Given the description of an element on the screen output the (x, y) to click on. 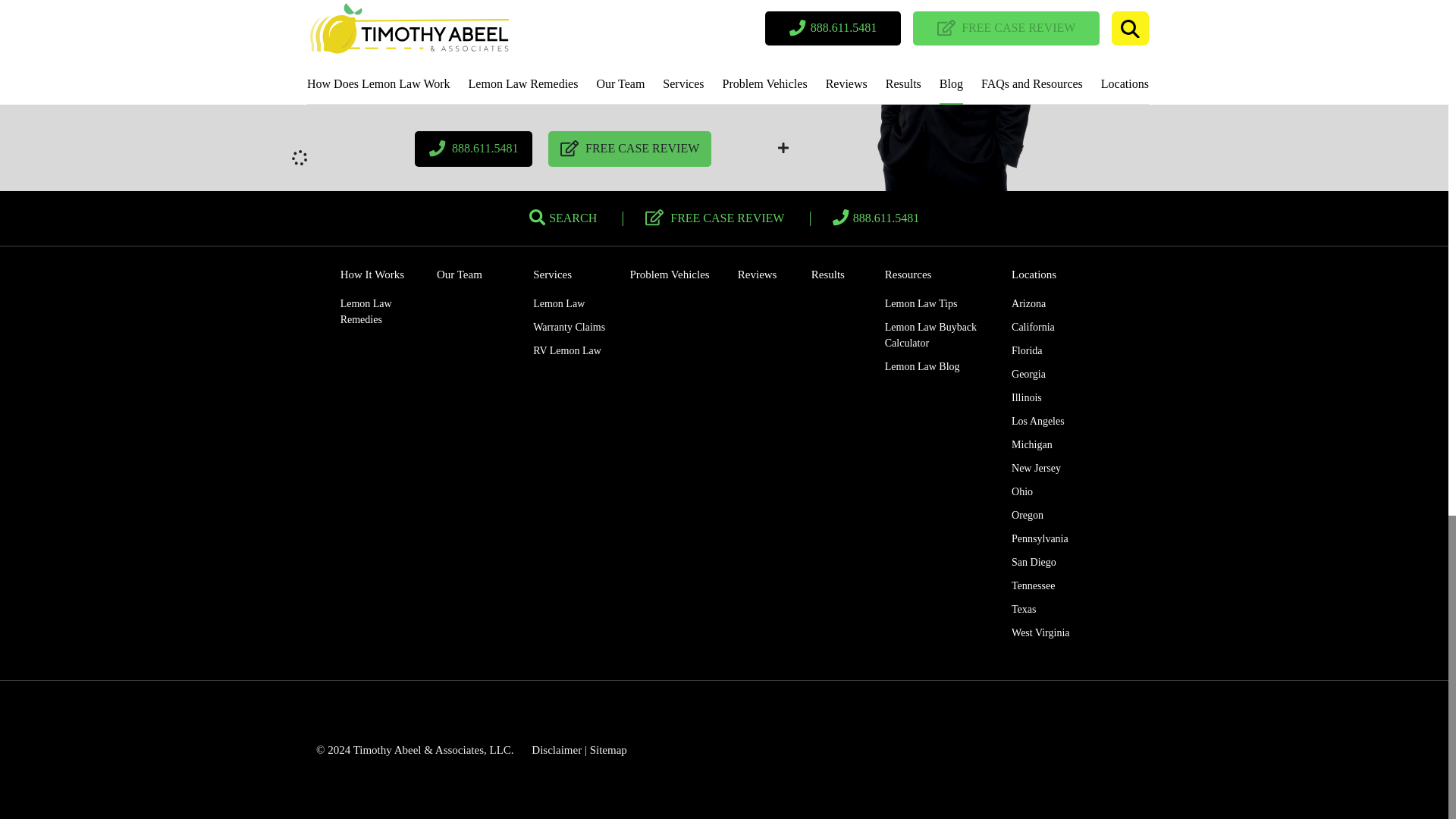
Search (562, 217)
